Given the description of an element on the screen output the (x, y) to click on. 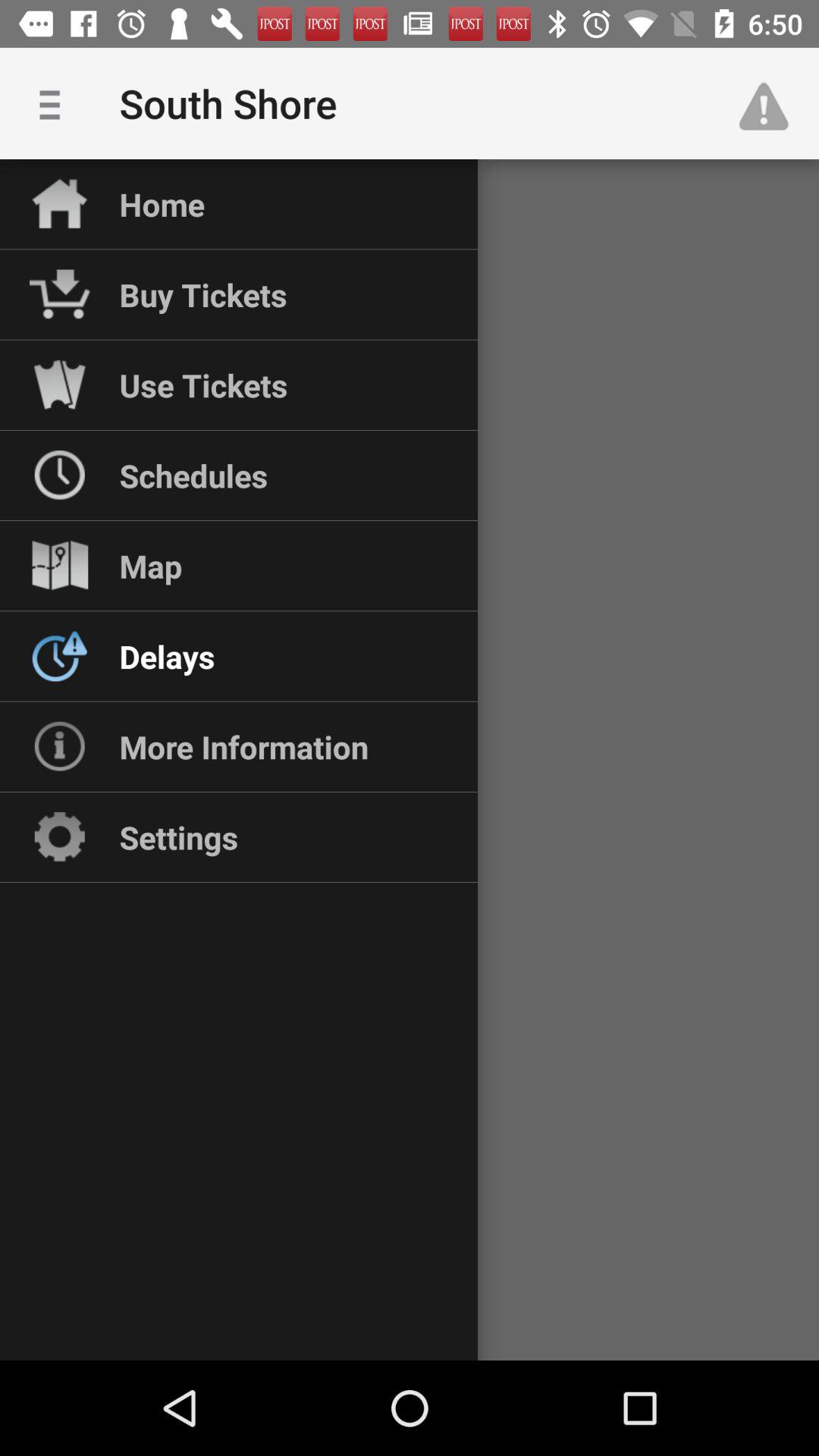
tap the delays icon (166, 656)
